Given the description of an element on the screen output the (x, y) to click on. 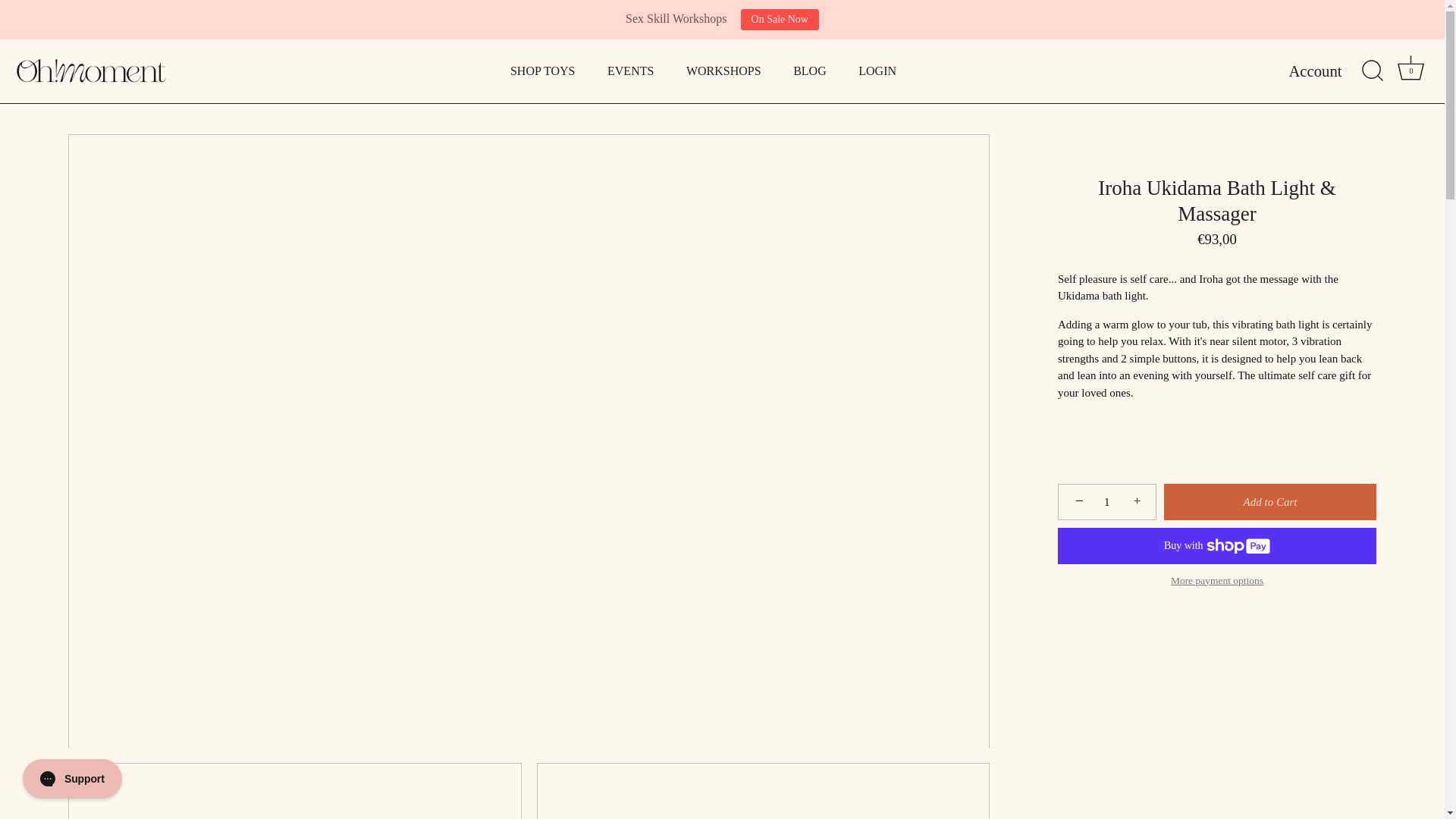
On Sale Now (1411, 70)
LOGIN (779, 19)
More payment options (877, 71)
Skip to content (1216, 581)
Account (1106, 502)
SHOP TOYS (1328, 71)
Add to Cart (542, 71)
EVENTS (1269, 502)
WORKSHOPS (630, 71)
BLOG (723, 71)
Cart (809, 71)
Gorgias live chat messenger (1410, 67)
